Given the description of an element on the screen output the (x, y) to click on. 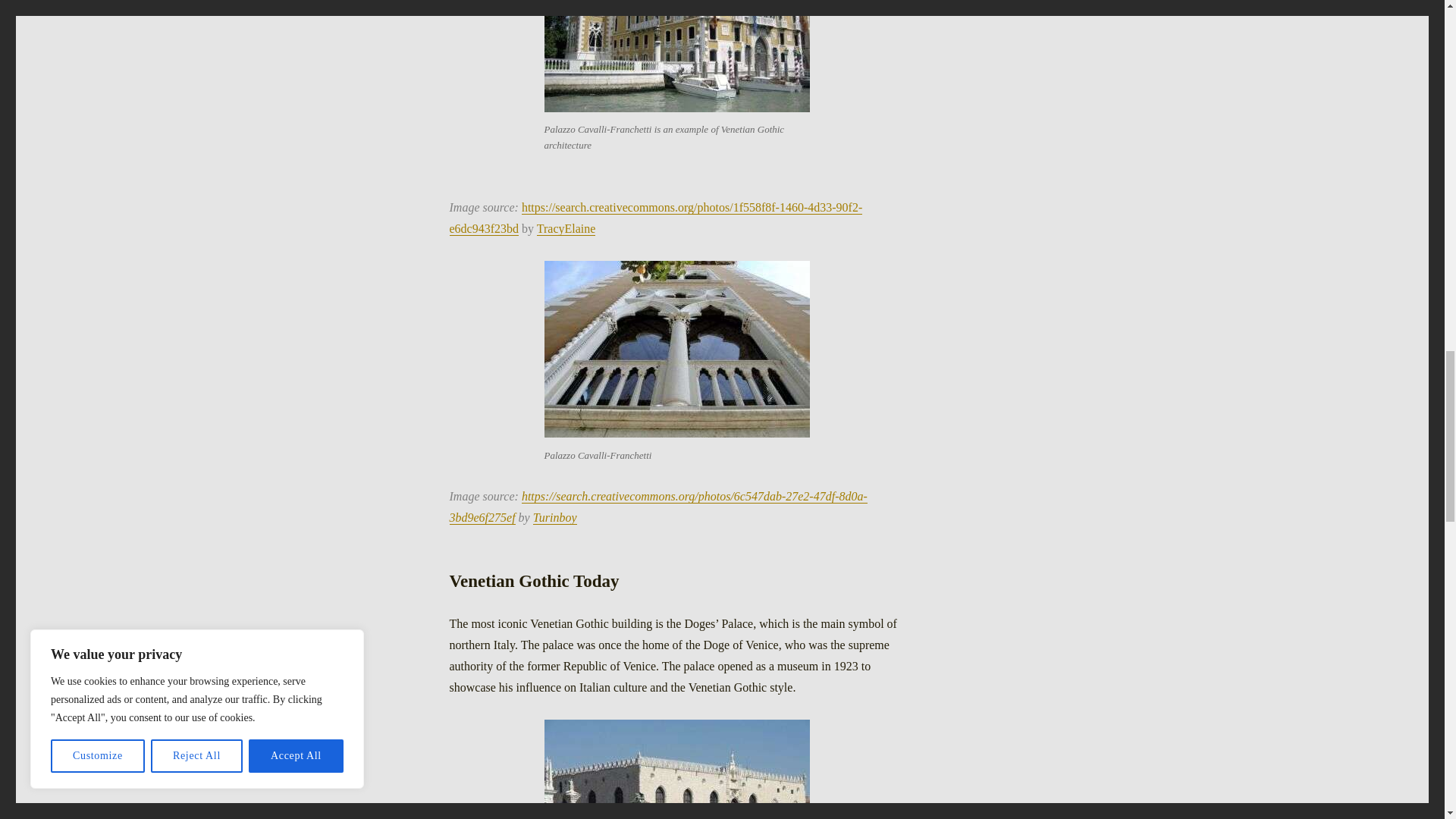
TracyElaine (566, 228)
